Given the description of an element on the screen output the (x, y) to click on. 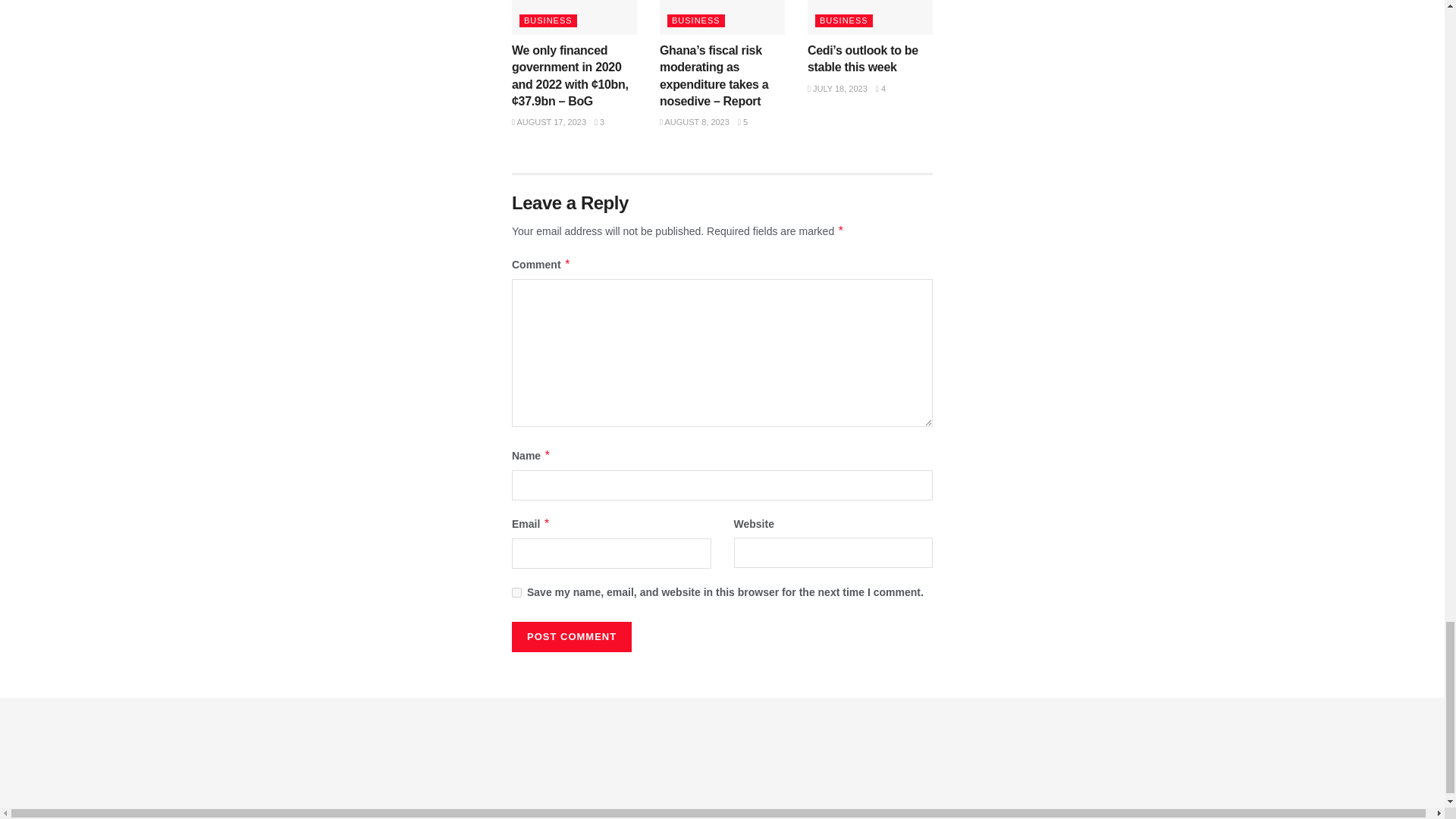
yes (516, 592)
Post Comment (571, 636)
